Given the description of an element on the screen output the (x, y) to click on. 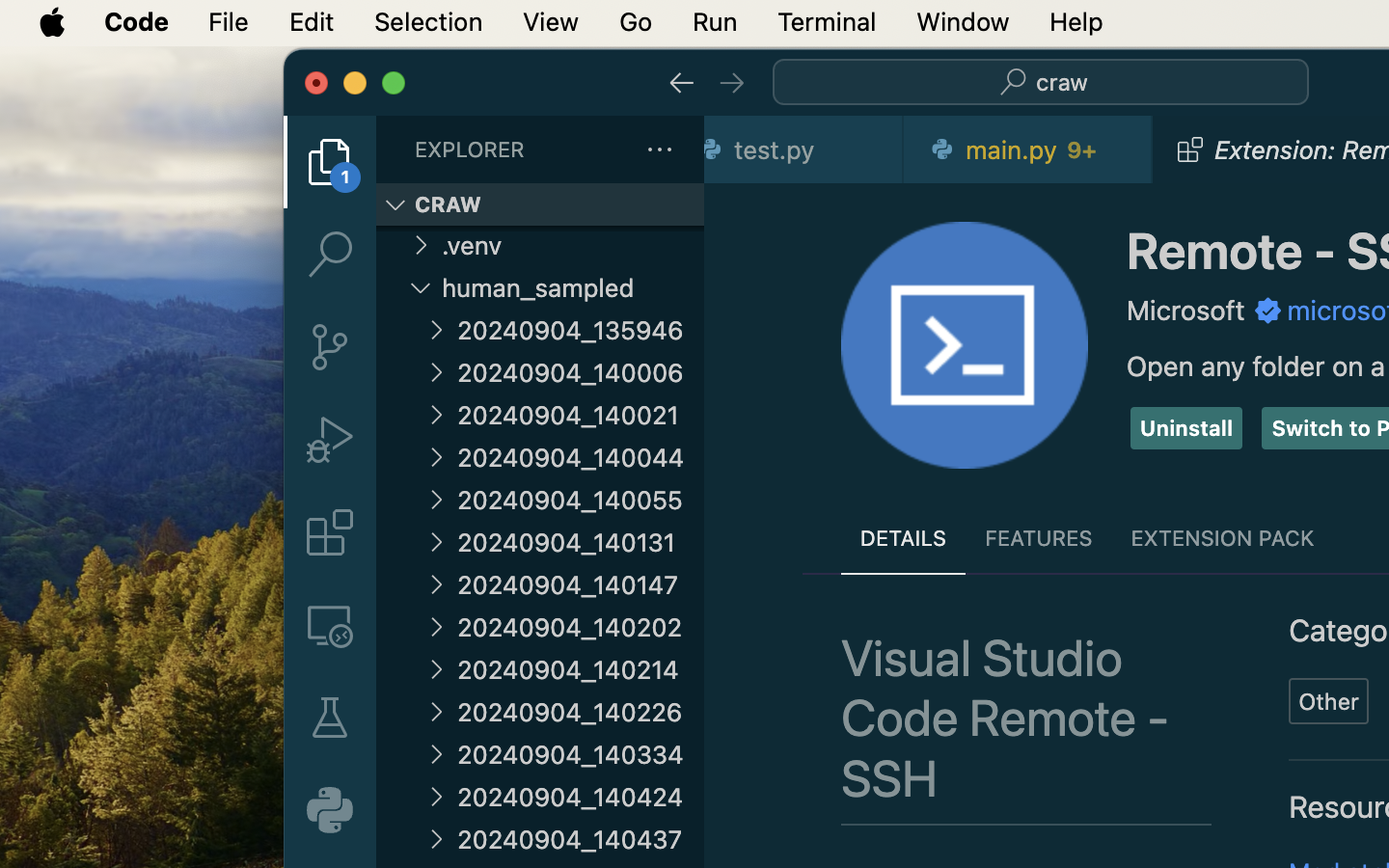
 Element type: AXStaticText (435, 456)
0 test.py   Element type: AXRadioButton (804, 149)
20240904_140226 Element type: AXGroup (580, 711)
 Element type: AXGroup (329, 532)
20240904_140202 Element type: AXGroup (580, 626)
